Given the description of an element on the screen output the (x, y) to click on. 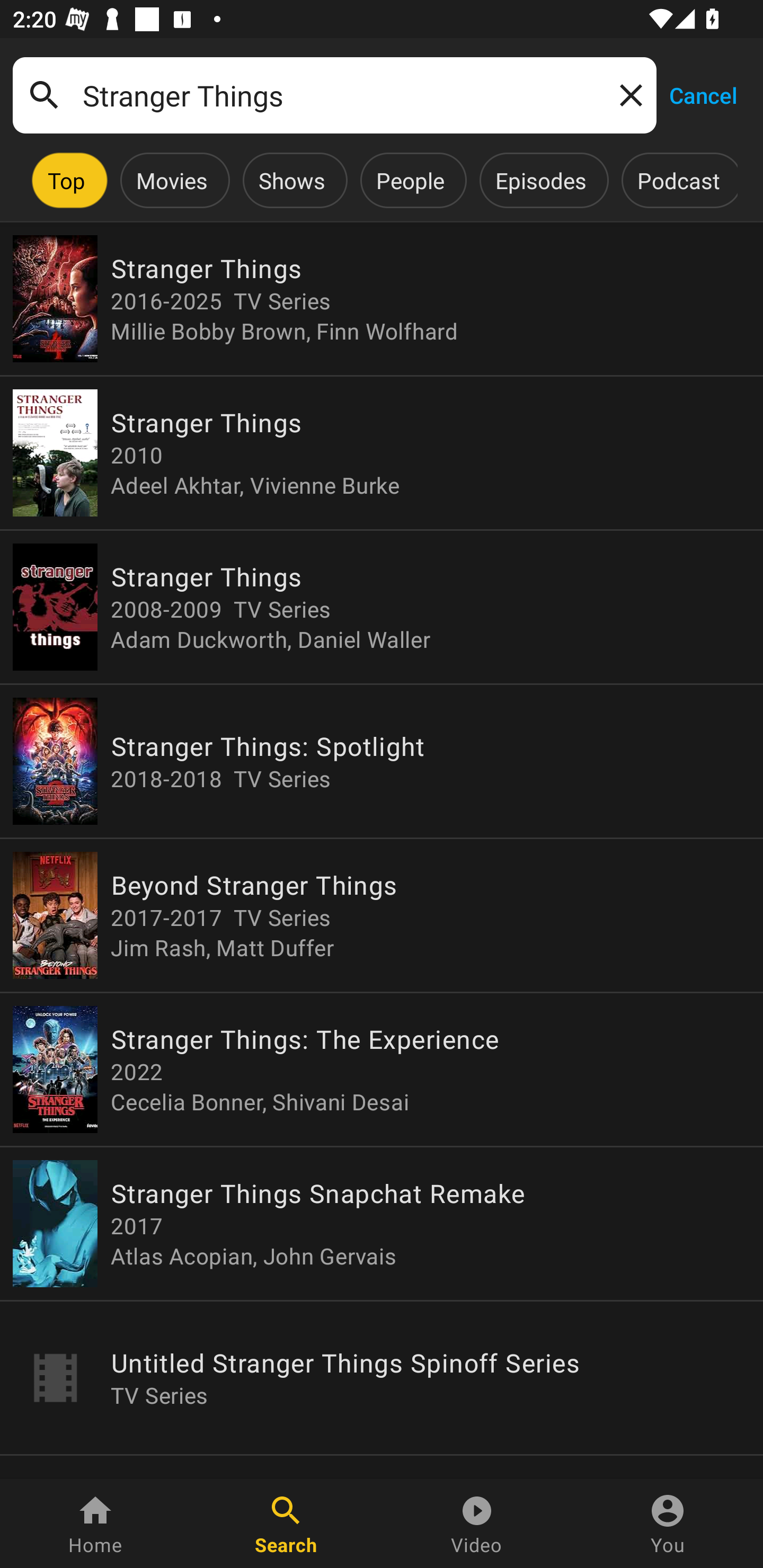
Clear query (627, 94)
Cancel (703, 94)
Stranger Things (334, 95)
Top (66, 180)
Movies (171, 180)
Shows (291, 180)
People (410, 180)
Episodes (540, 180)
Podcast (678, 180)
Stranger Things 2010 Adeel Akhtar, Vivienne Burke (381, 452)
Stranger Things: Spotlight 2018-2018  TV Series (381, 761)
Untitled Stranger Things Spinoff Series TV Series (381, 1377)
Home (95, 1523)
Video (476, 1523)
You (667, 1523)
